Given the description of an element on the screen output the (x, y) to click on. 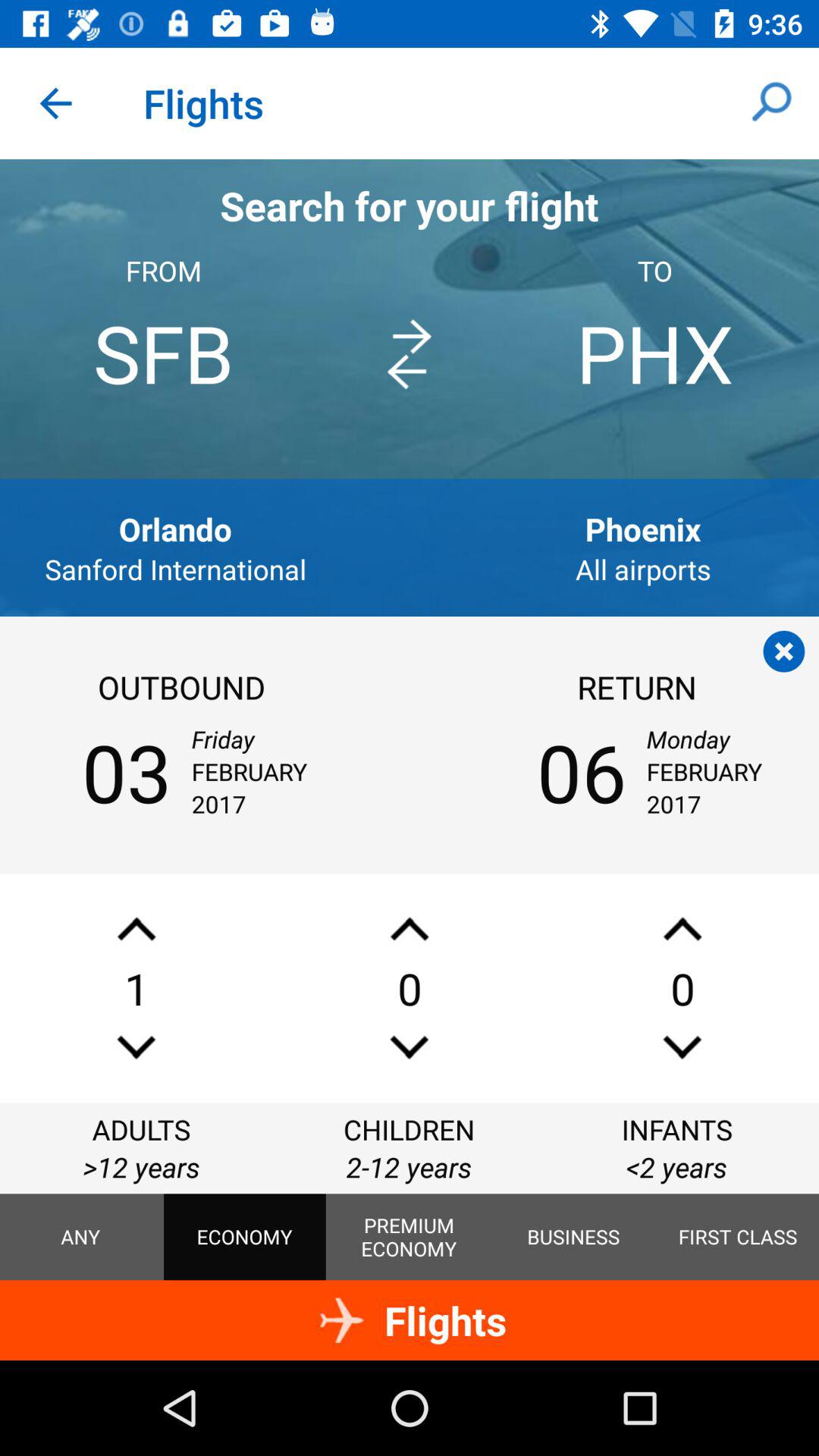
increase number (682, 928)
